Given the description of an element on the screen output the (x, y) to click on. 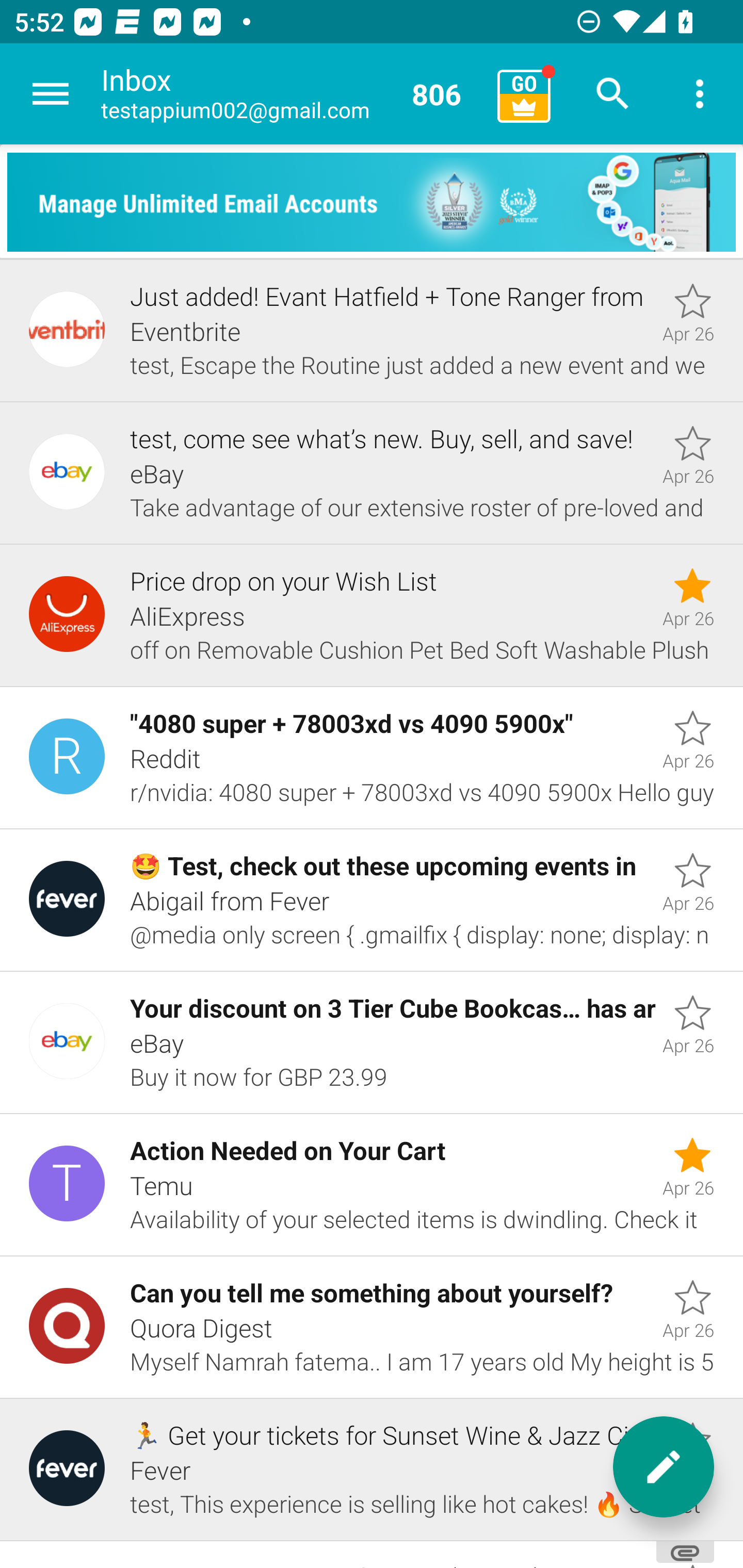
Navigate up (50, 93)
Inbox testappium002@gmail.com 806 (291, 93)
Search (612, 93)
More options (699, 93)
New message (663, 1466)
